Given the description of an element on the screen output the (x, y) to click on. 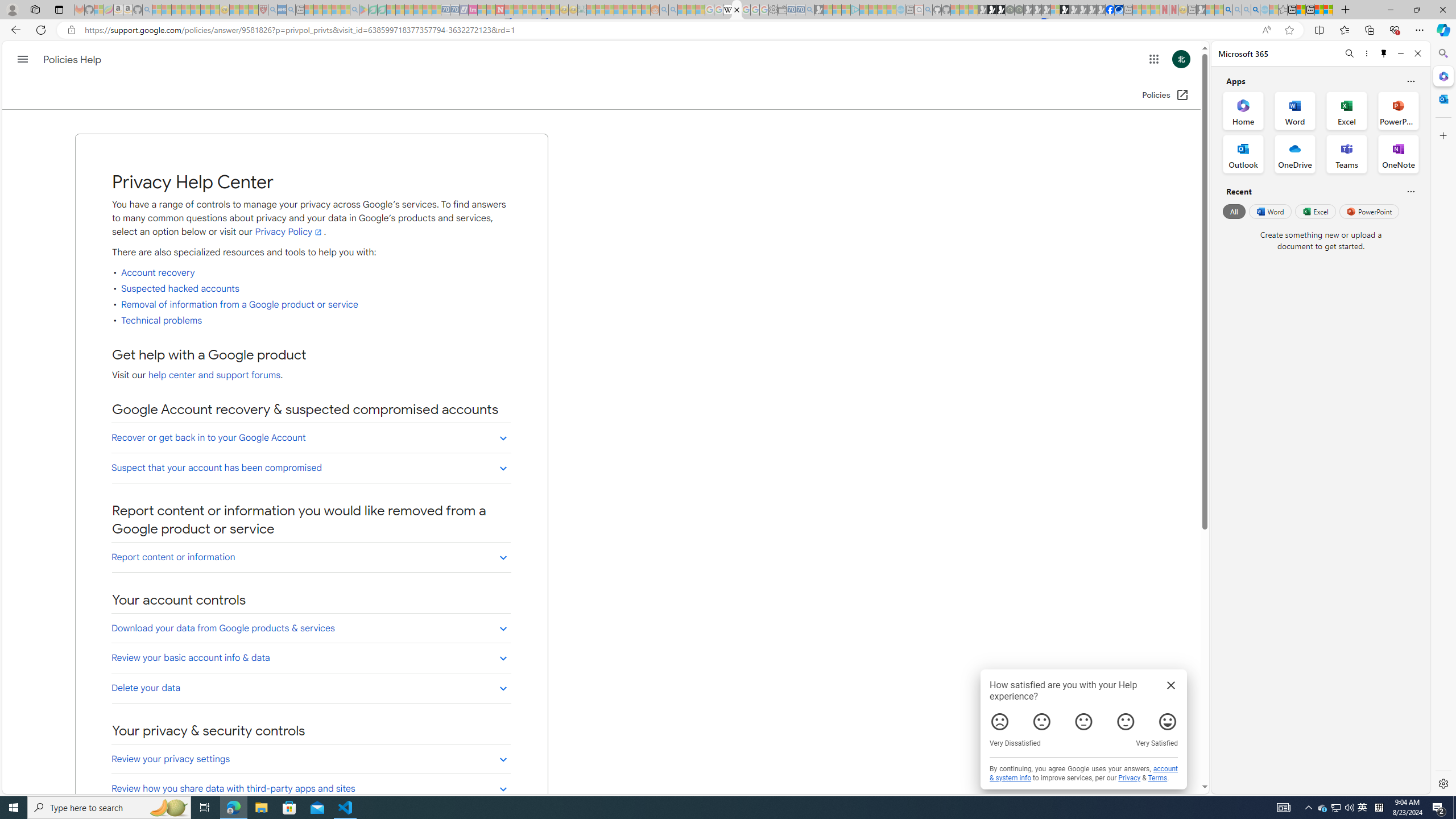
Target page - Wikipedia (726, 9)
account & system info (1083, 773)
